Given the description of an element on the screen output the (x, y) to click on. 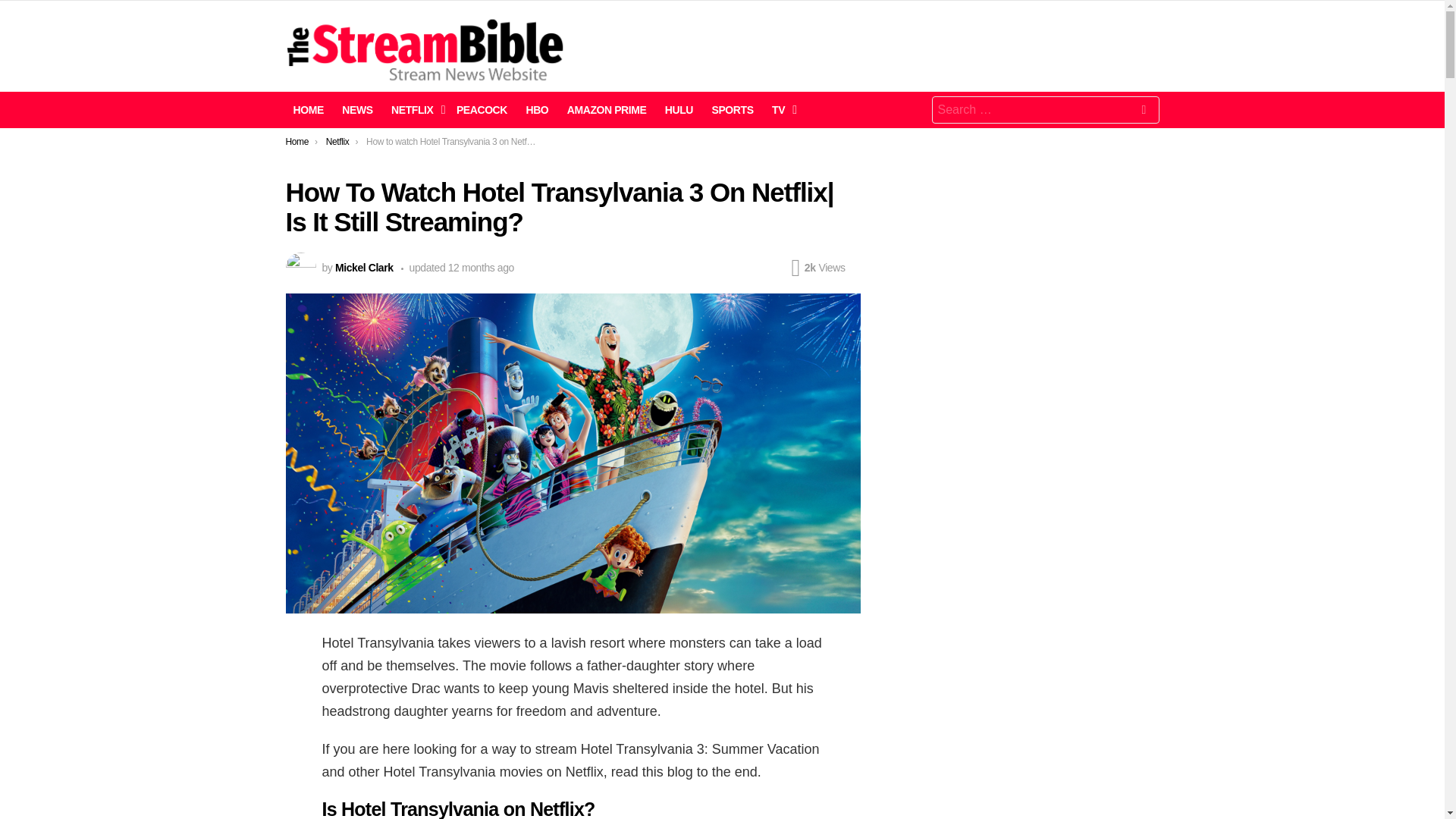
HULU (679, 109)
Netflix (337, 141)
HOME (307, 109)
Home (296, 141)
HBO (537, 109)
PEACOCK (481, 109)
NEWS (357, 109)
SPORTS (731, 109)
SEARCH (1143, 111)
Mickel Clark (363, 267)
Search for: (1044, 109)
AMAZON PRIME (606, 109)
TV (780, 109)
NETFLIX (414, 109)
August 3, 2023, 10:02 am (480, 267)
